Given the description of an element on the screen output the (x, y) to click on. 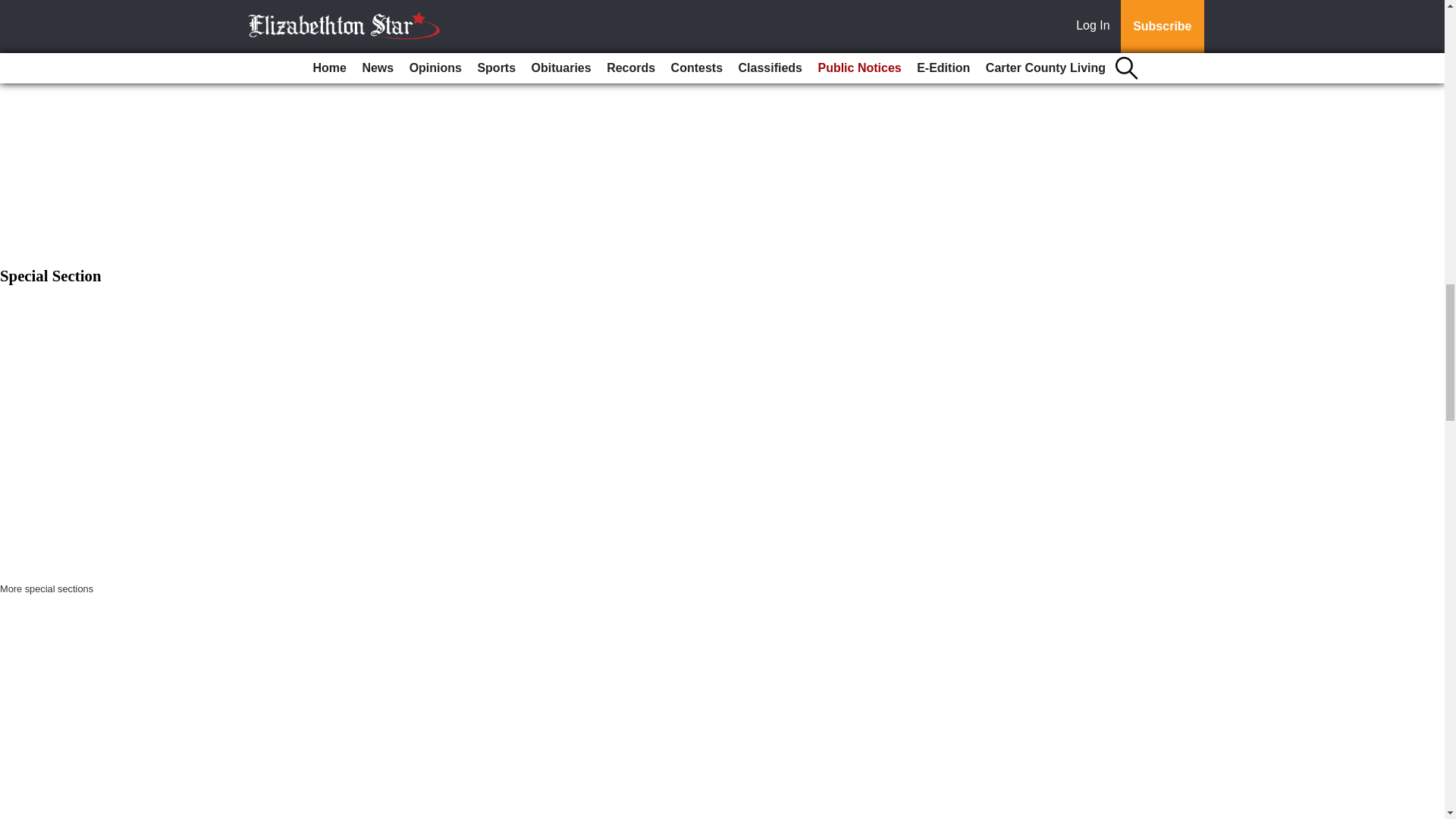
More special sections (46, 588)
